Given the description of an element on the screen output the (x, y) to click on. 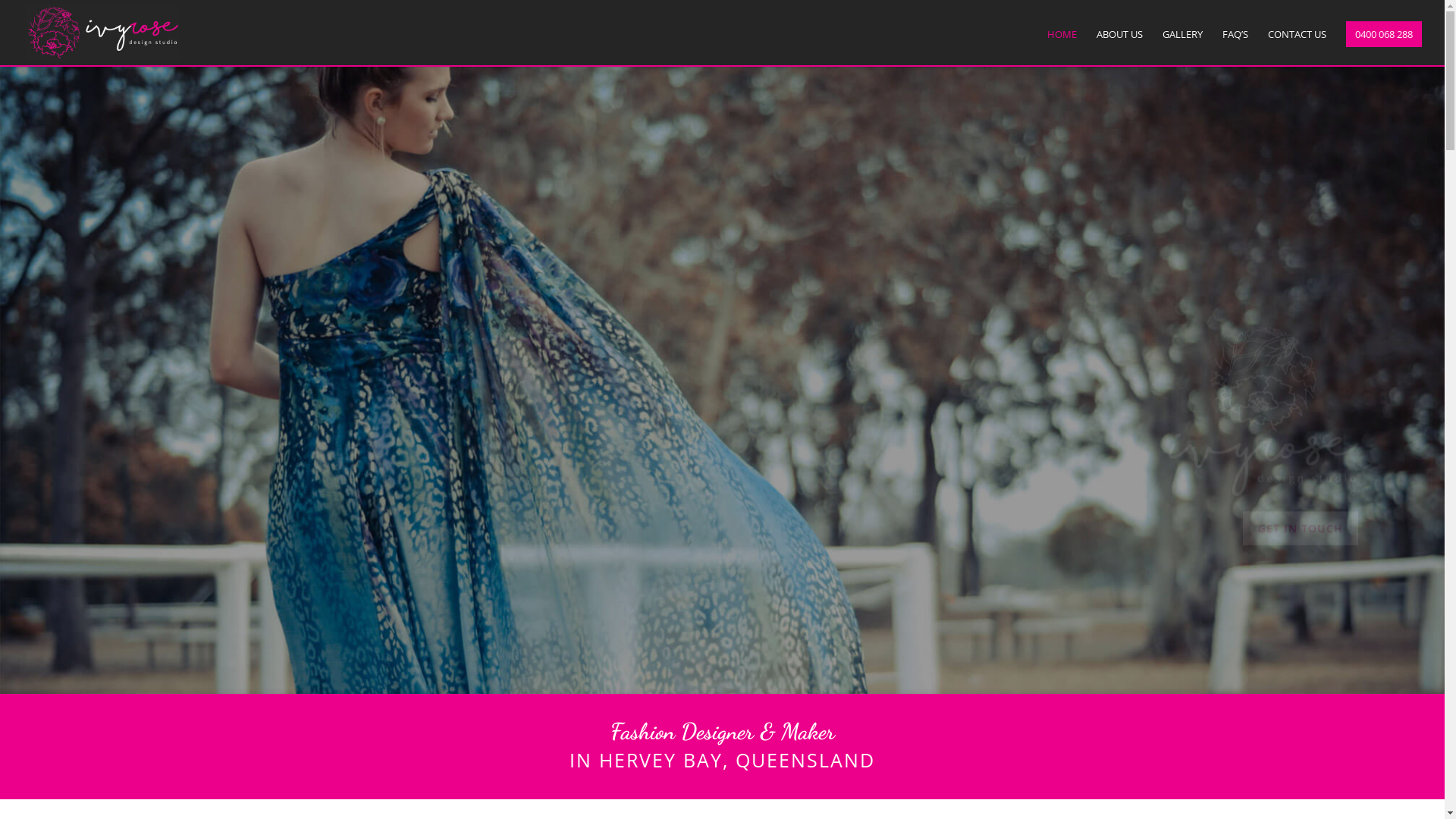
GALLERY Element type: text (1182, 44)
CONTACT US Element type: text (1296, 44)
0400 068 288 Element type: text (1383, 34)
HOME Element type: text (1061, 44)
GET IN TOUCH Element type: text (149, 471)
ABOUT US Element type: text (1119, 44)
